Given the description of an element on the screen output the (x, y) to click on. 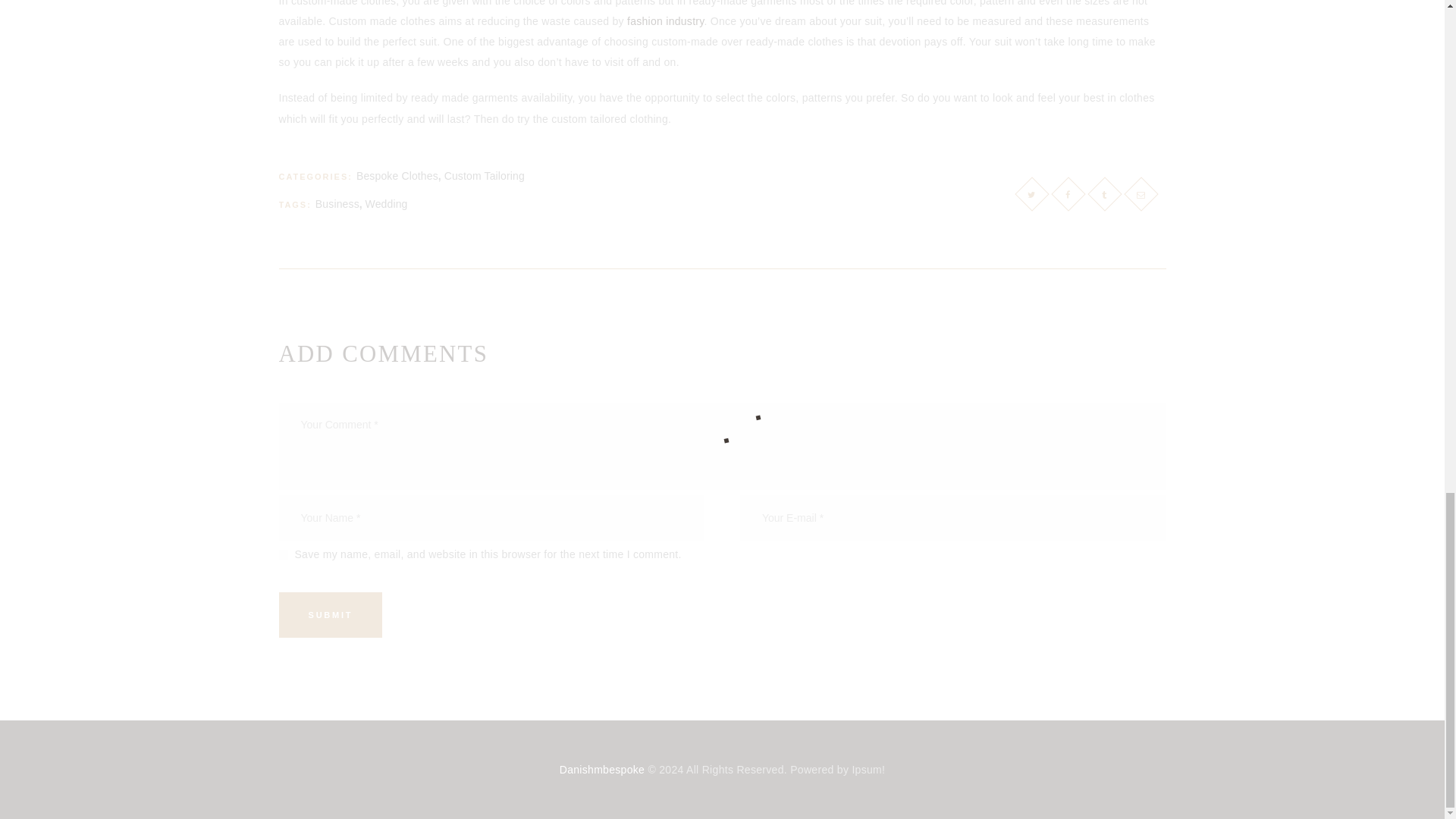
fashion industry (665, 21)
Custom Tailoring (484, 175)
Submit (330, 614)
Bespoke Clothes (397, 175)
